Given the description of an element on the screen output the (x, y) to click on. 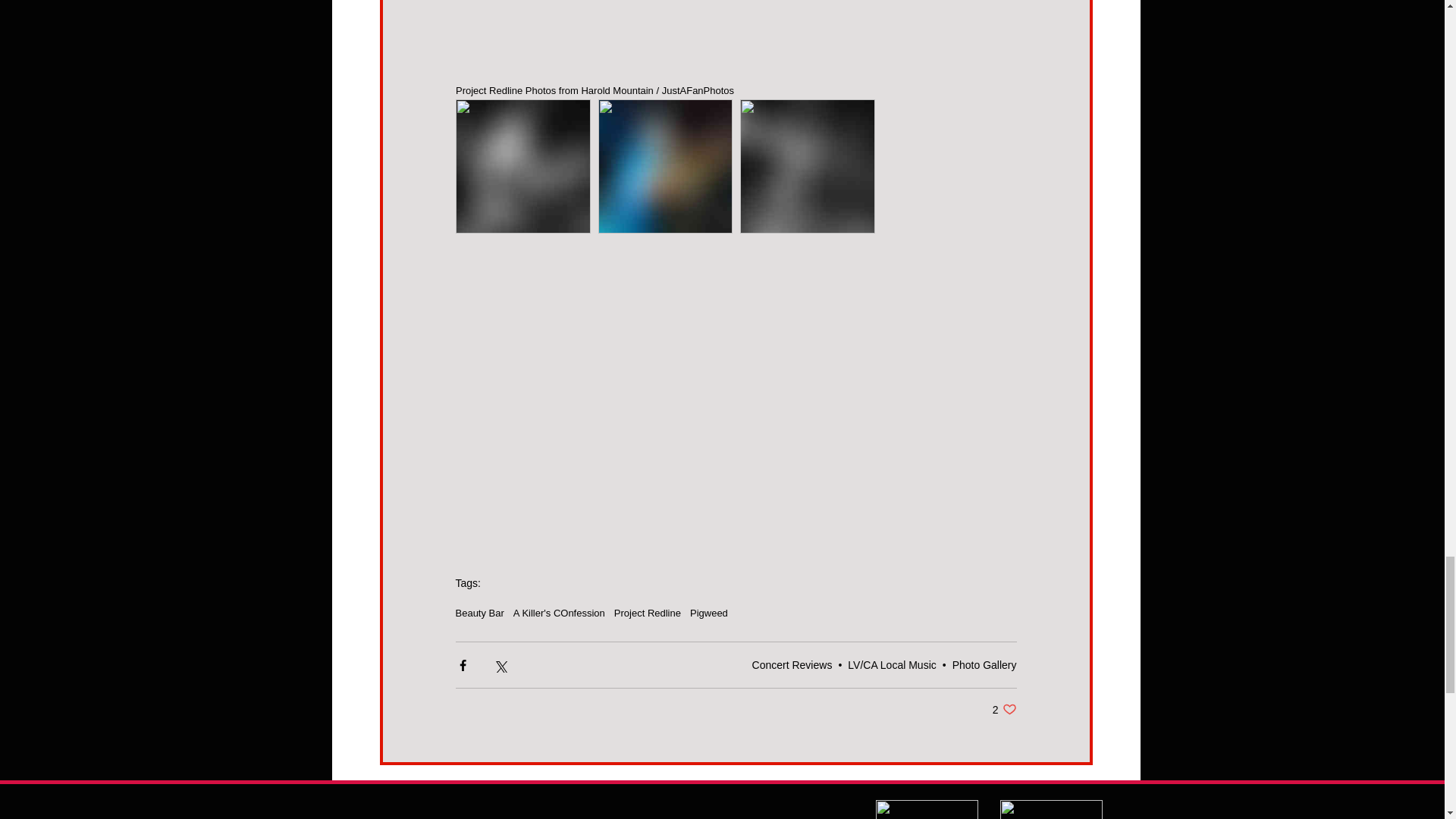
Photo Gallery (984, 664)
Concert Reviews (792, 664)
Beauty Bar (478, 613)
A Killer's COnfession (559, 613)
Project Redline (647, 613)
Pigweed (709, 613)
